Given the description of an element on the screen output the (x, y) to click on. 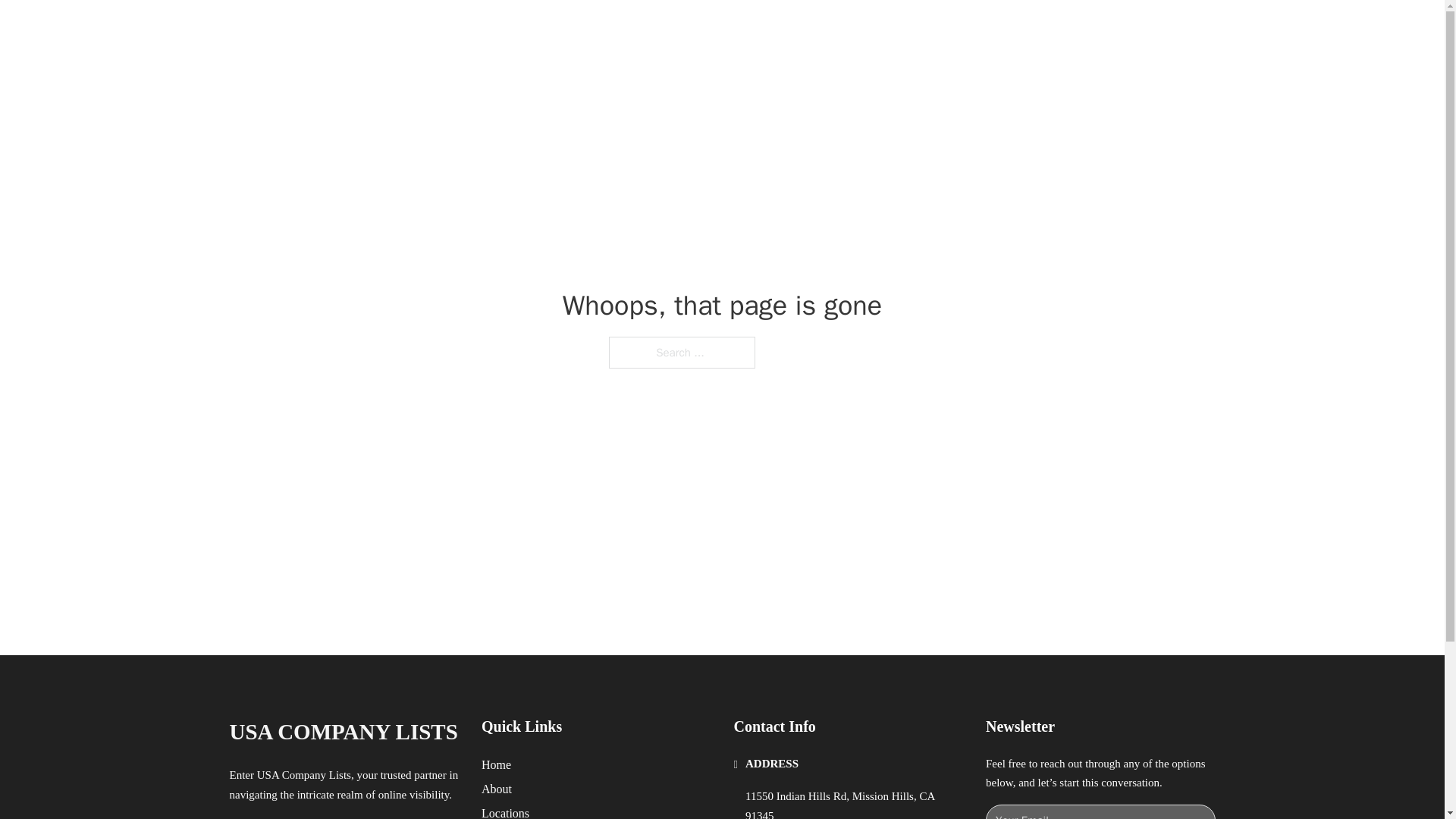
About (496, 788)
HOME (919, 29)
USA COMPANY LISTS (342, 732)
LOCATIONS (990, 29)
Locations (505, 811)
USA COMPANY LISTS (416, 28)
Home (496, 764)
